Given the description of an element on the screen output the (x, y) to click on. 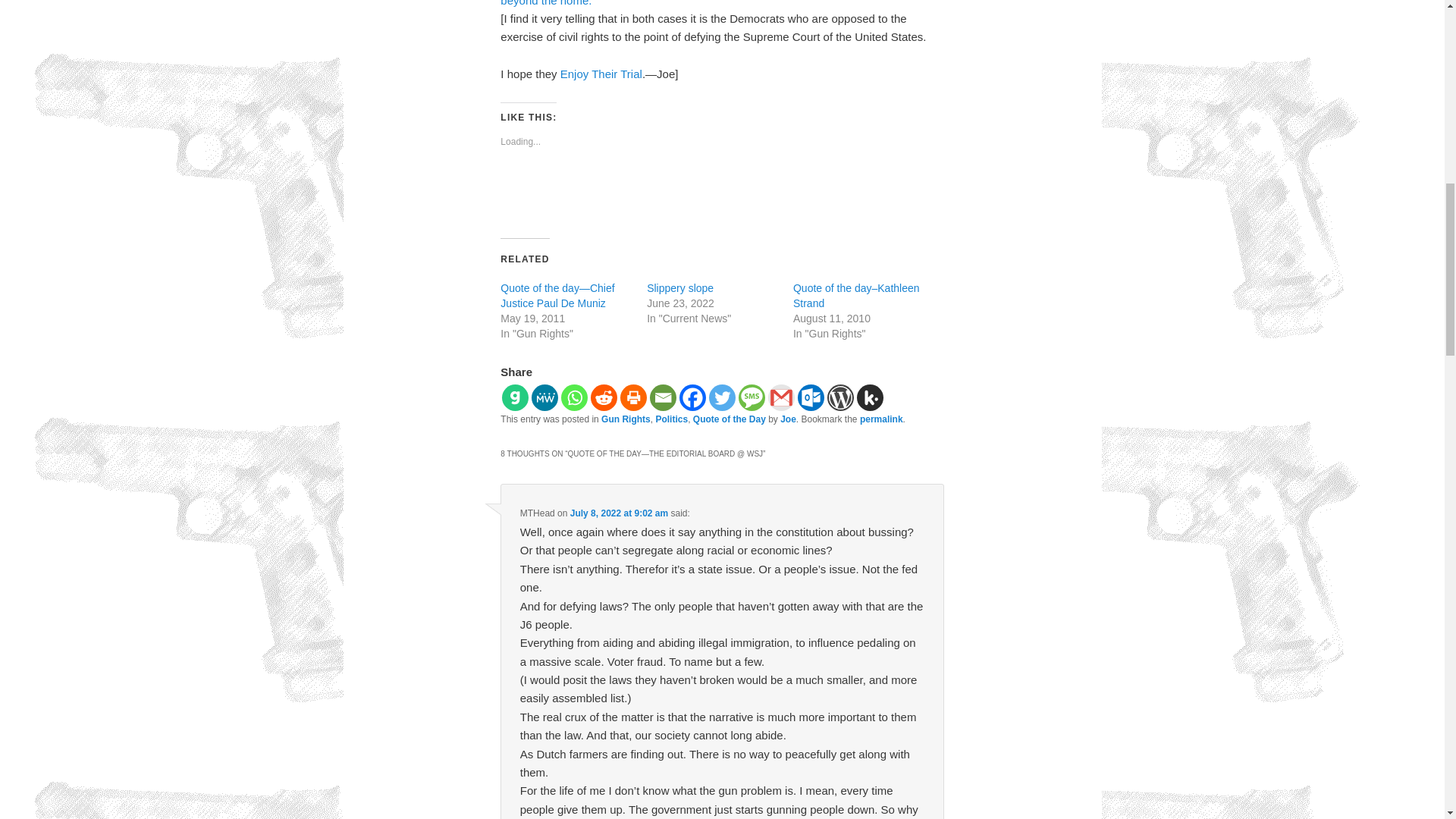
Print (633, 397)
July 8, 2022 at 9:02 am (619, 512)
Slippery slope (679, 287)
permalink (881, 419)
Facebook (692, 397)
Slippery slope (679, 287)
Gab (515, 397)
Like or Reblog (721, 194)
Whatsapp (574, 397)
Joe (788, 419)
Enjoy Their Trial (601, 73)
Gun Rights (625, 419)
Quote of the Day (729, 419)
Reddit (604, 397)
Politics (671, 419)
